Given the description of an element on the screen output the (x, y) to click on. 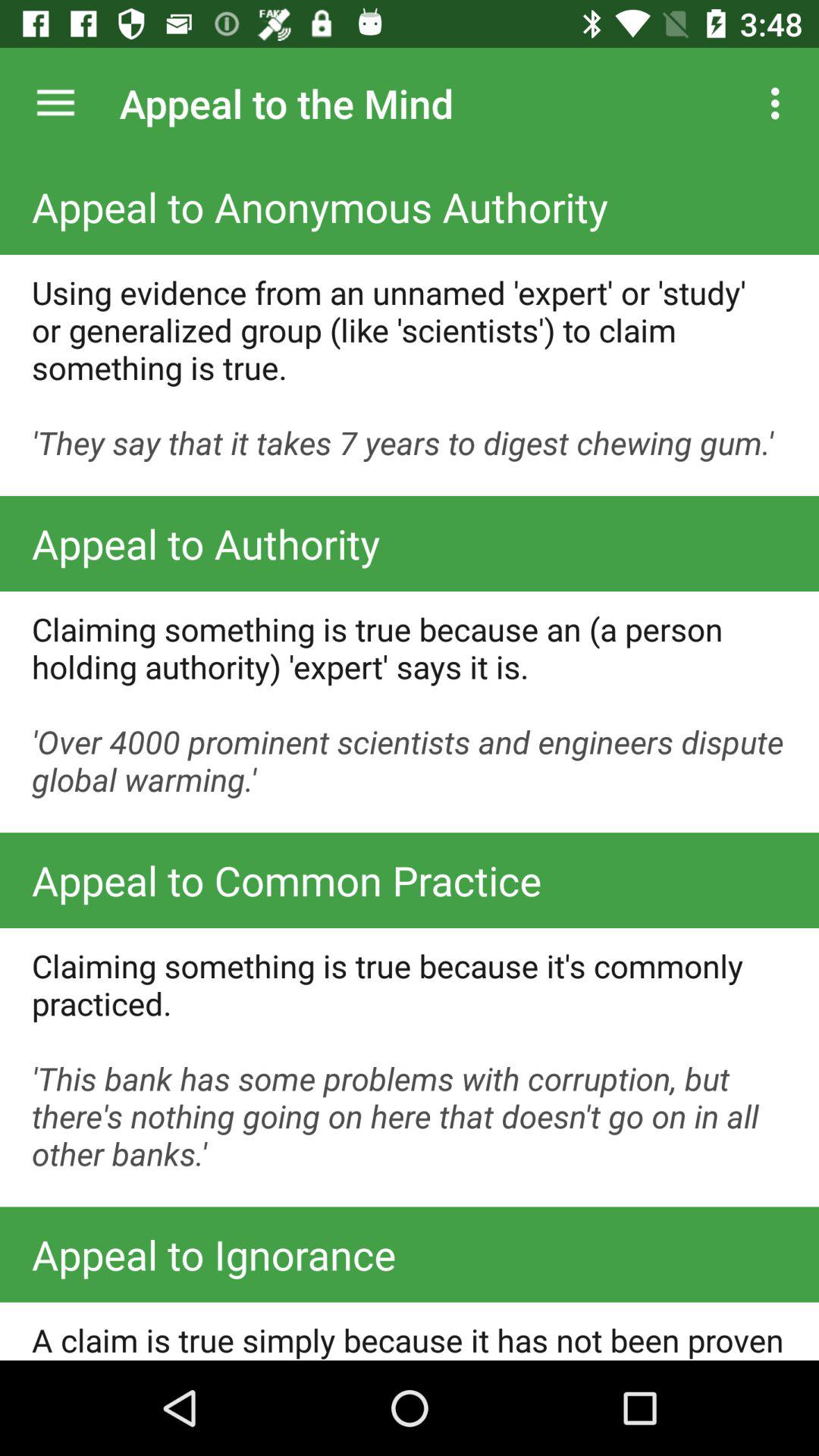
turn on icon at the top right corner (779, 103)
